Given the description of an element on the screen output the (x, y) to click on. 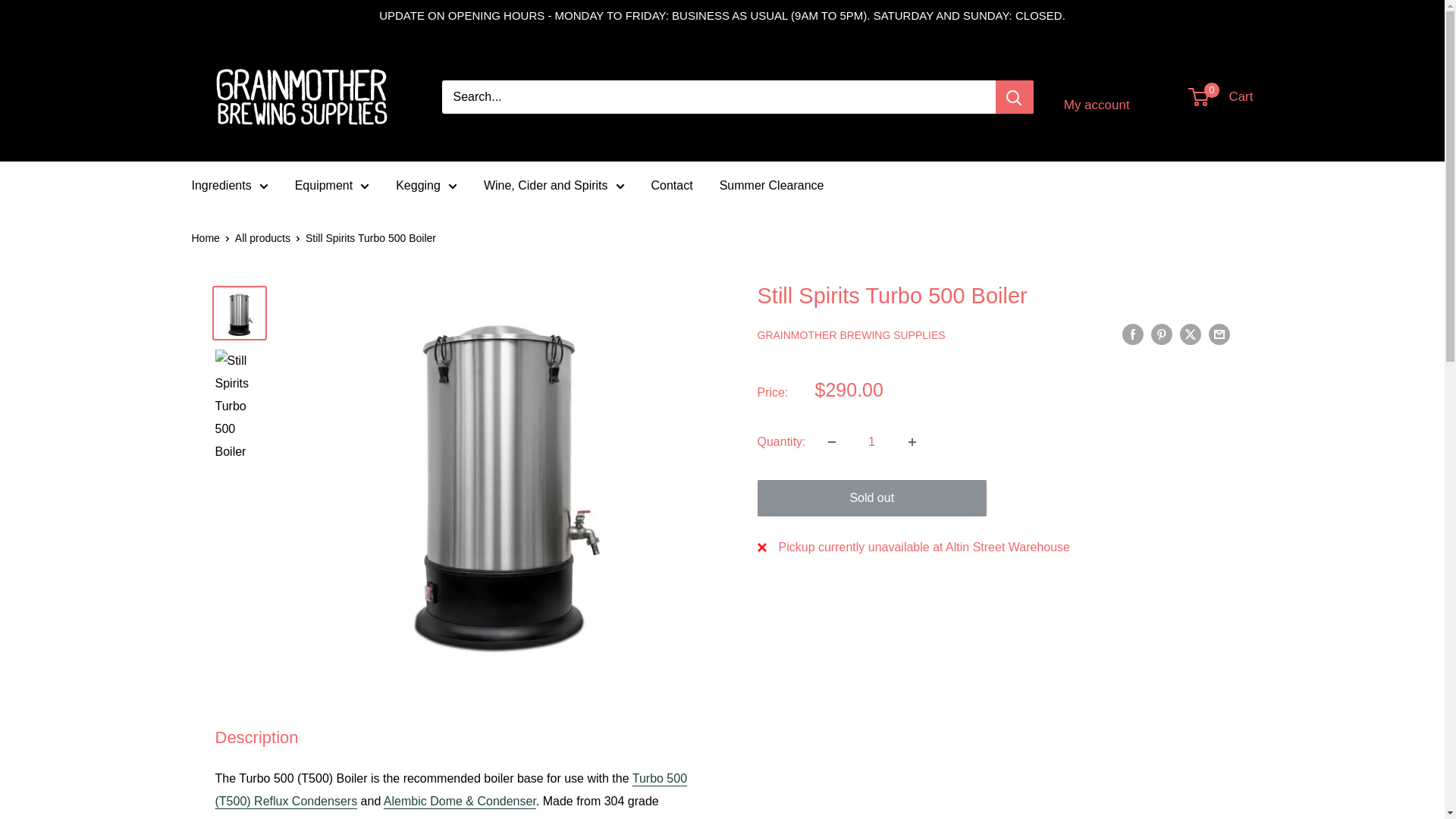
Decrease quantity by 1 (831, 441)
Increase quantity by 1 (912, 441)
Turbo 500 Reflux Condenser Distillation Distil Spirits (451, 789)
1 (871, 441)
